Given the description of an element on the screen output the (x, y) to click on. 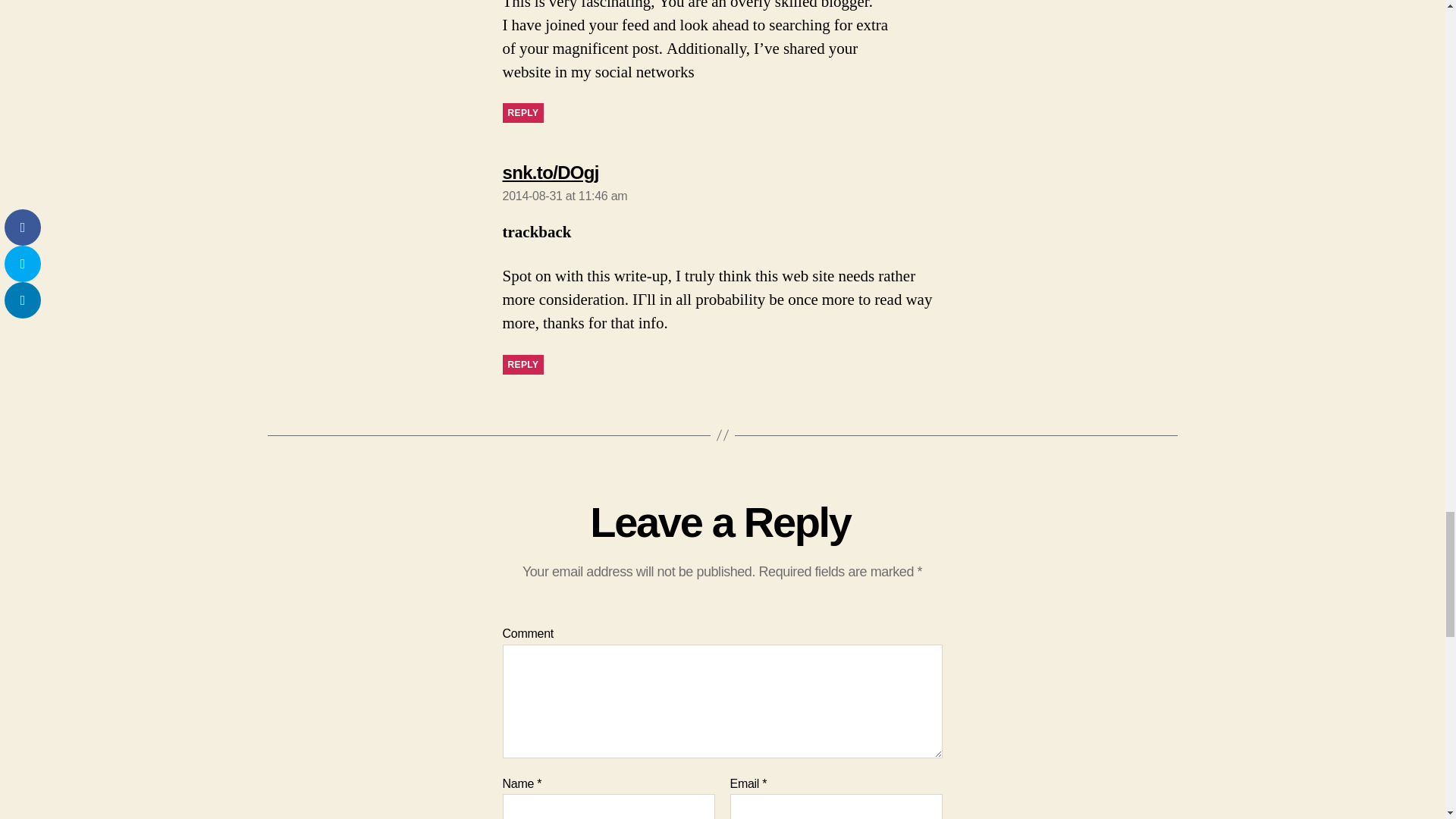
2014-08-31 at 11:46 am (564, 195)
REPLY (522, 112)
REPLY (522, 364)
